Given the description of an element on the screen output the (x, y) to click on. 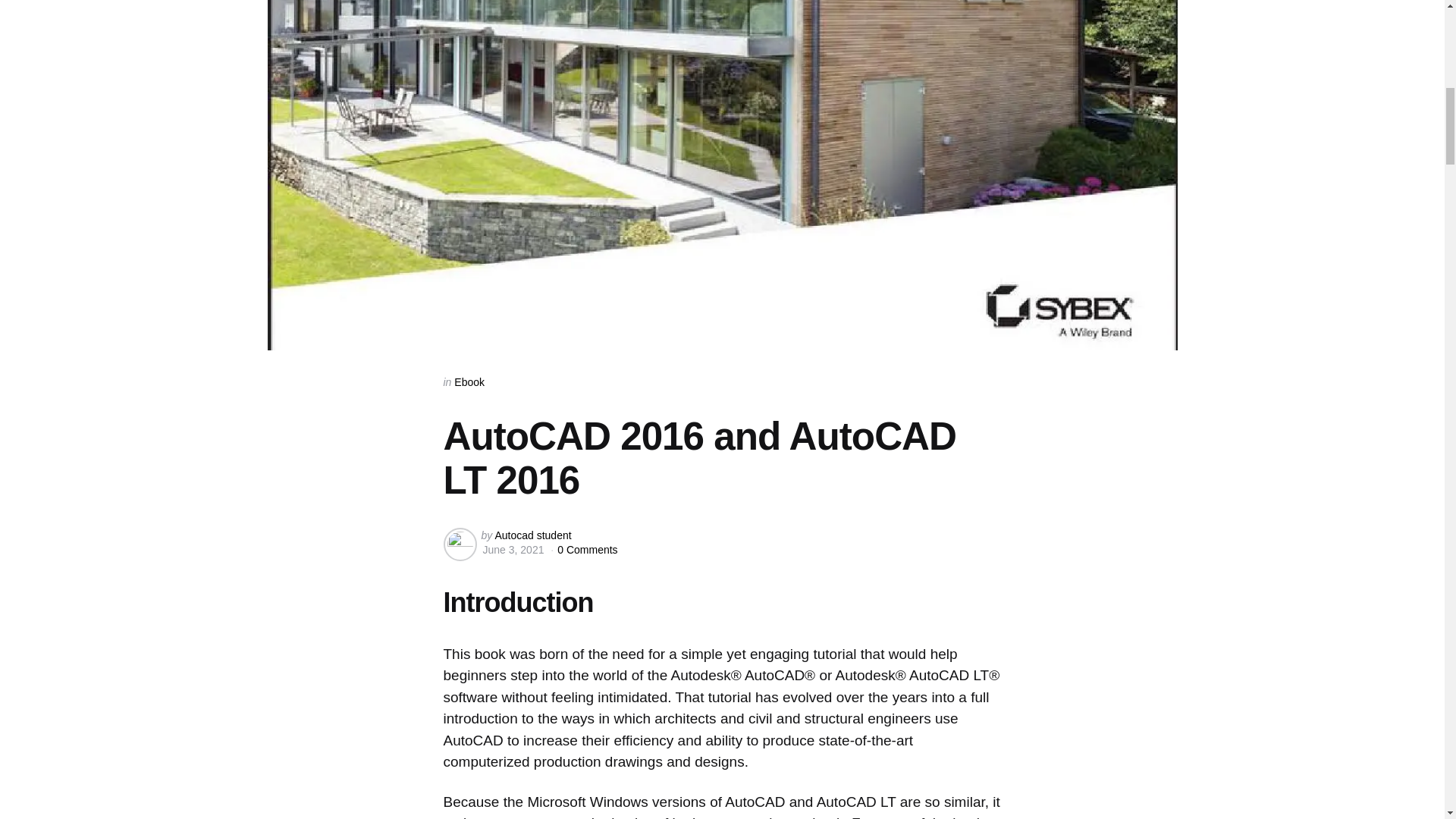
Ebook (469, 381)
0 Comments (587, 549)
Autocad student (532, 535)
